Given the description of an element on the screen output the (x, y) to click on. 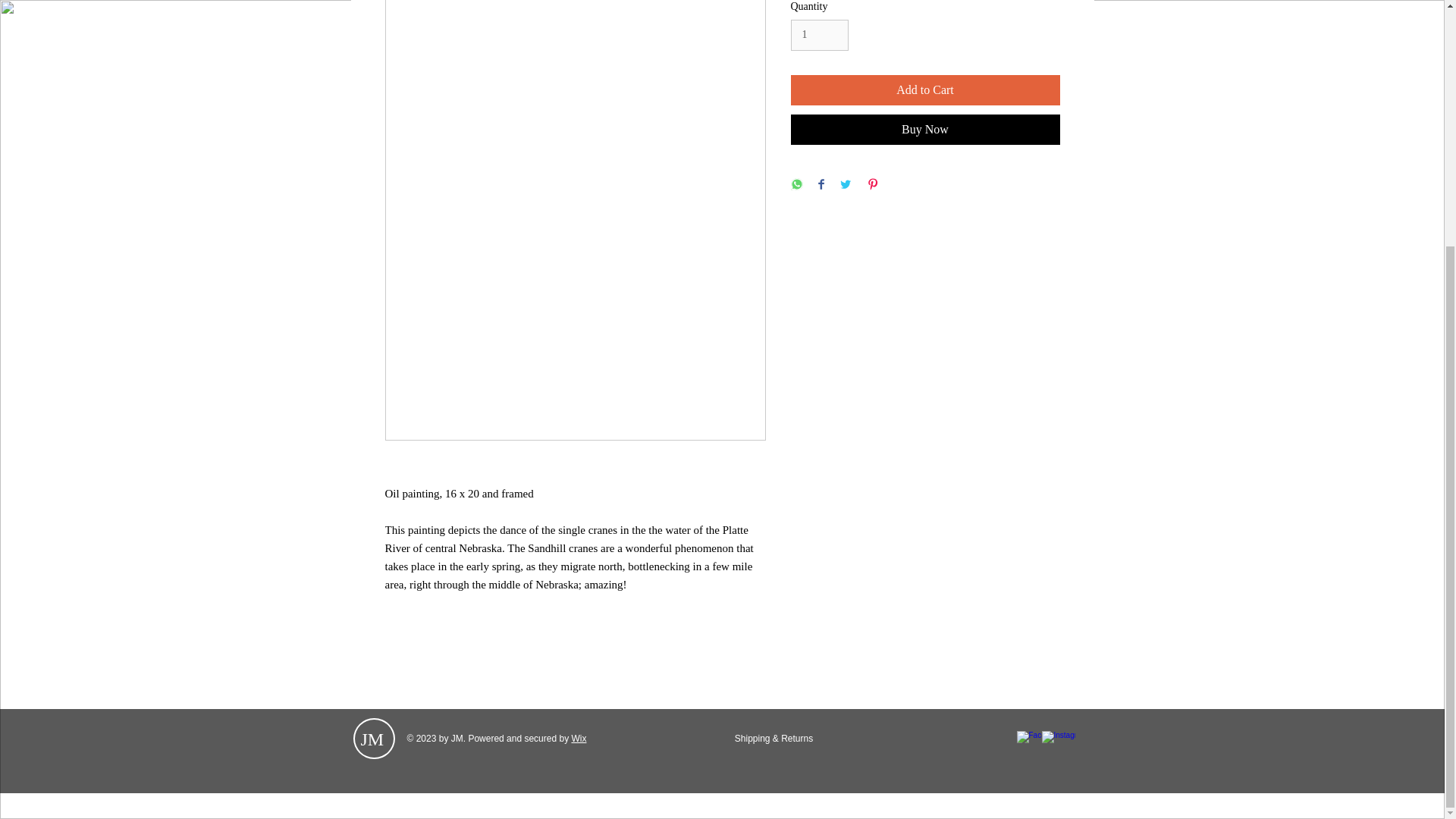
Add to Cart (924, 90)
JM (372, 739)
Wix (578, 738)
1 (818, 34)
Buy Now (924, 129)
